Given the description of an element on the screen output the (x, y) to click on. 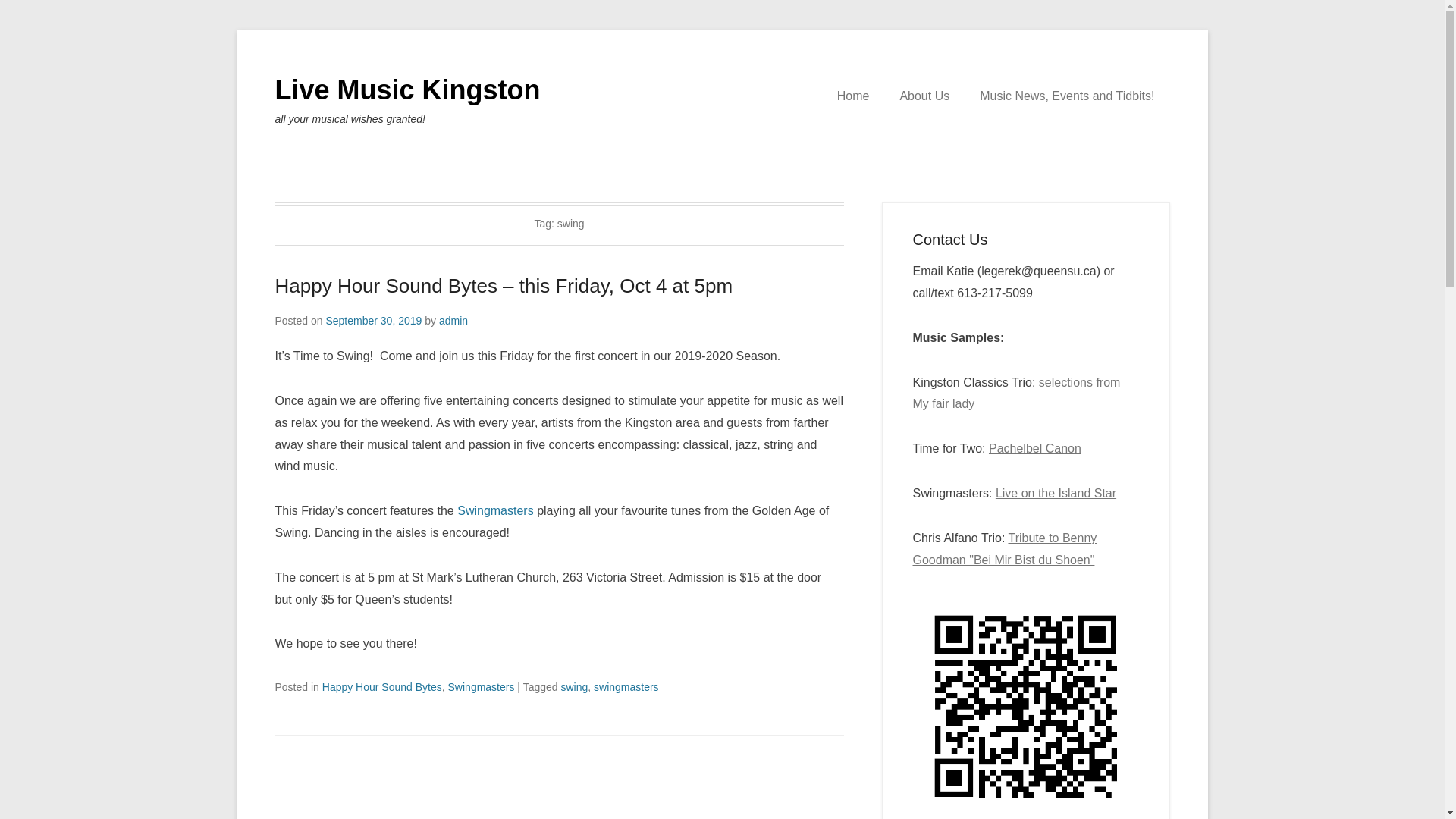
admin (453, 320)
Home (853, 96)
September 30, 2019 (373, 320)
selections from My fair lady (1016, 393)
Live Music Kingston (407, 89)
Live on the Island Star (1055, 492)
Live Music Kingston (407, 89)
swing (574, 686)
Pachelbel Canon (1034, 448)
Happy Hour Sound Bytes (381, 686)
Music News, Events and Tidbits! (1066, 96)
Swingmasters (494, 510)
Tribute to Benny Goodman "Bei Mir Bist du Shoen" (1004, 548)
Swingmasters (481, 686)
6:24 pm (373, 320)
